Given the description of an element on the screen output the (x, y) to click on. 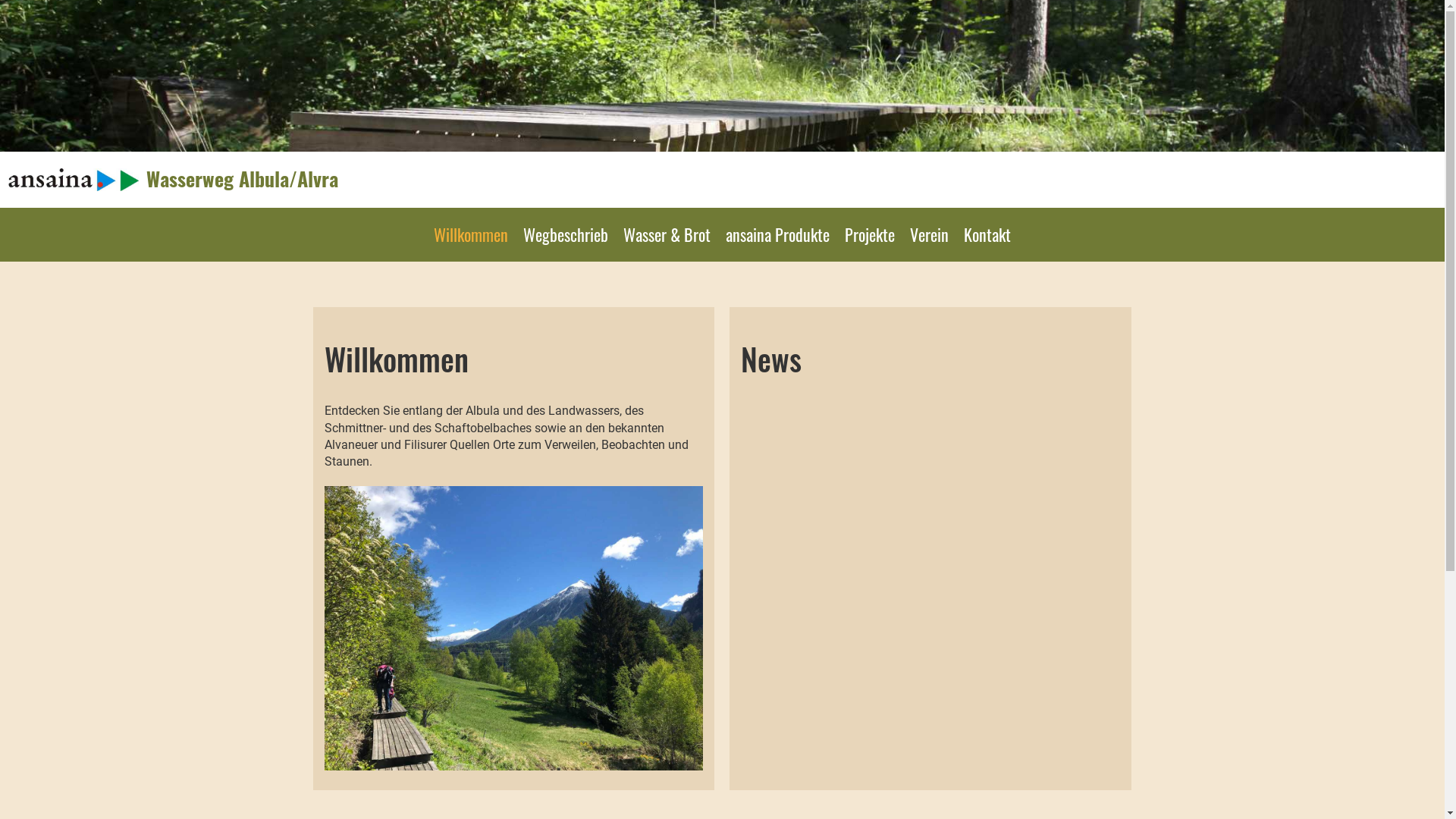
ansaina Produkte Element type: text (777, 234)
Wasser & Brot Element type: text (666, 234)
Projekte Element type: text (869, 234)
Willkommen Element type: text (470, 234)
Kontakt Element type: text (987, 234)
Wasserweg Albula/Alvra Element type: text (242, 178)
Wegbeschrieb Element type: text (565, 234)
Verein Element type: text (929, 234)
